Given the description of an element on the screen output the (x, y) to click on. 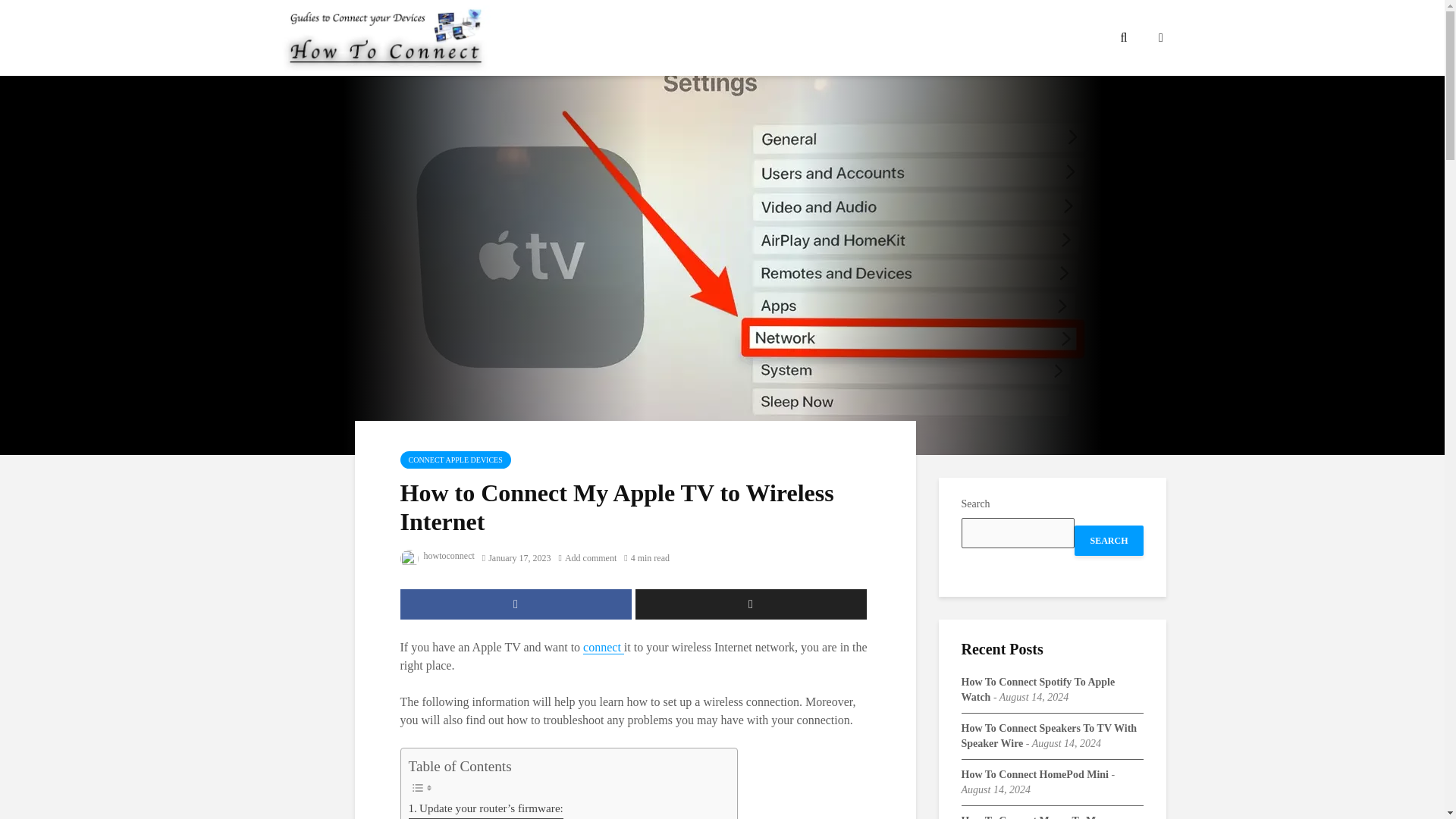
Add comment (588, 557)
connect (603, 647)
CONNECT APPLE DEVICES (455, 459)
howtoconnect (437, 555)
